Given the description of an element on the screen output the (x, y) to click on. 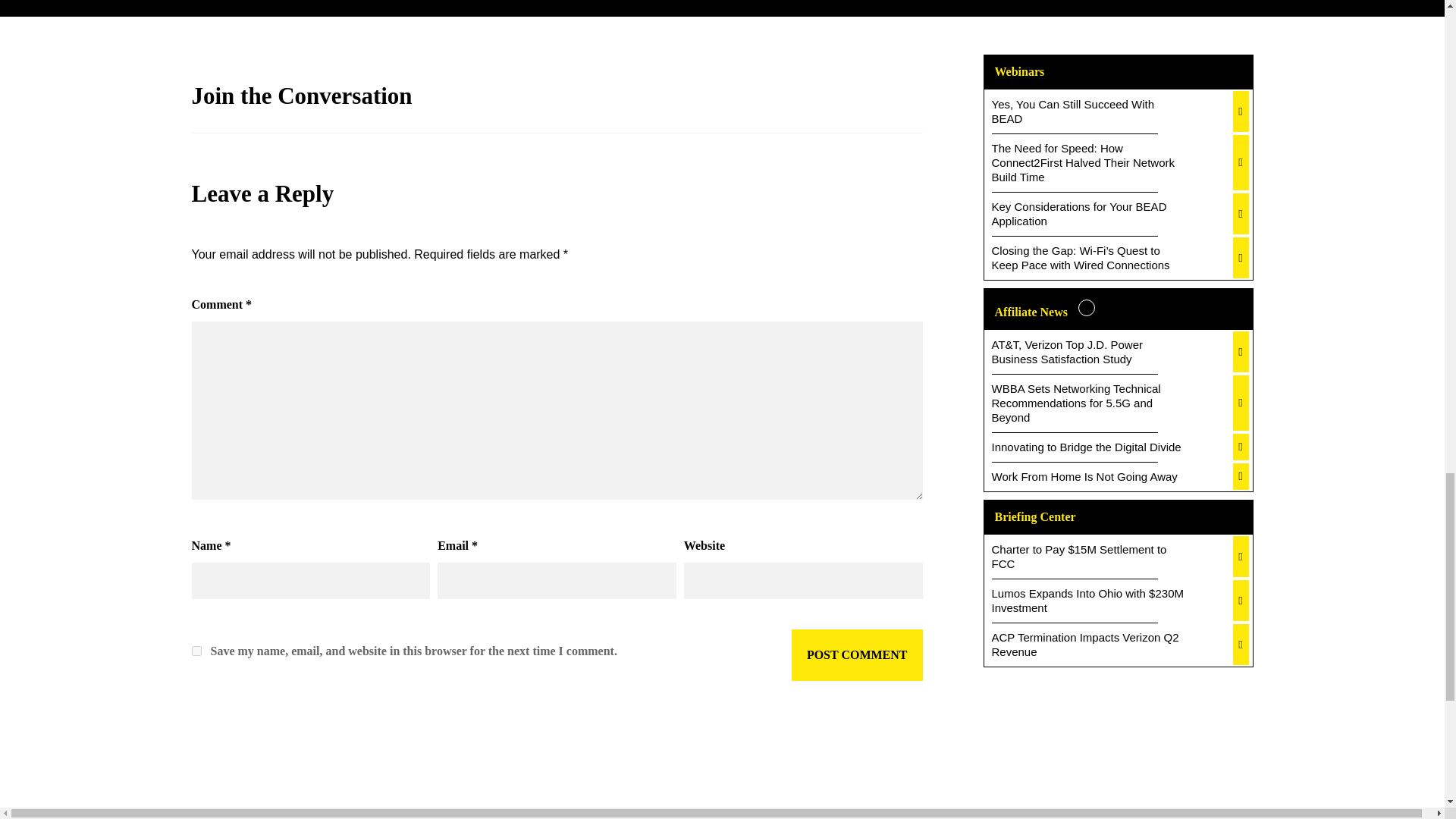
Post Comment (857, 654)
yes (195, 651)
